Given the description of an element on the screen output the (x, y) to click on. 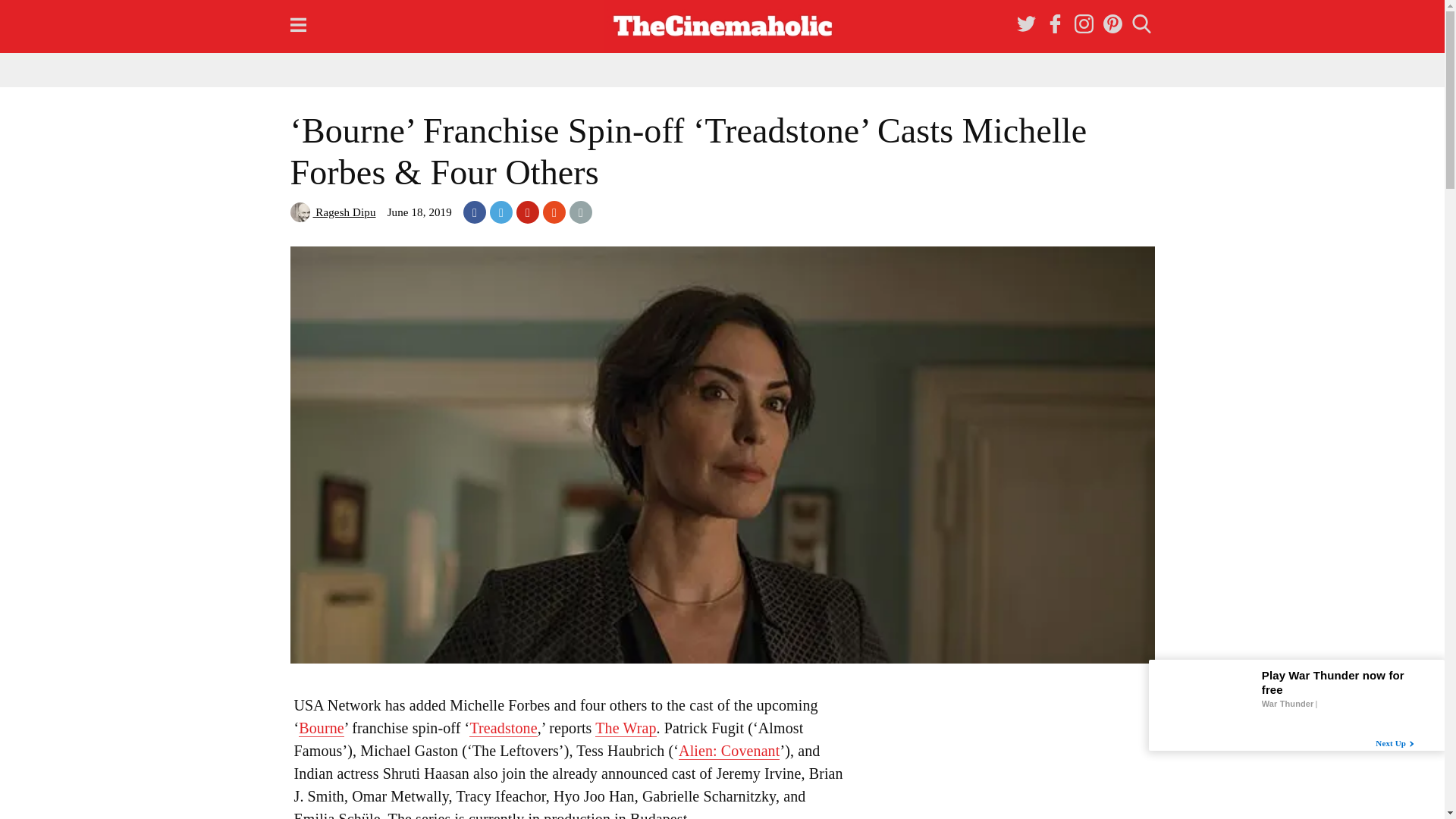
Bourne (320, 728)
Ragesh Dipu (332, 212)
Treadstone (502, 728)
Alien: Covenant (728, 751)
The Wrap (625, 728)
